Given the description of an element on the screen output the (x, y) to click on. 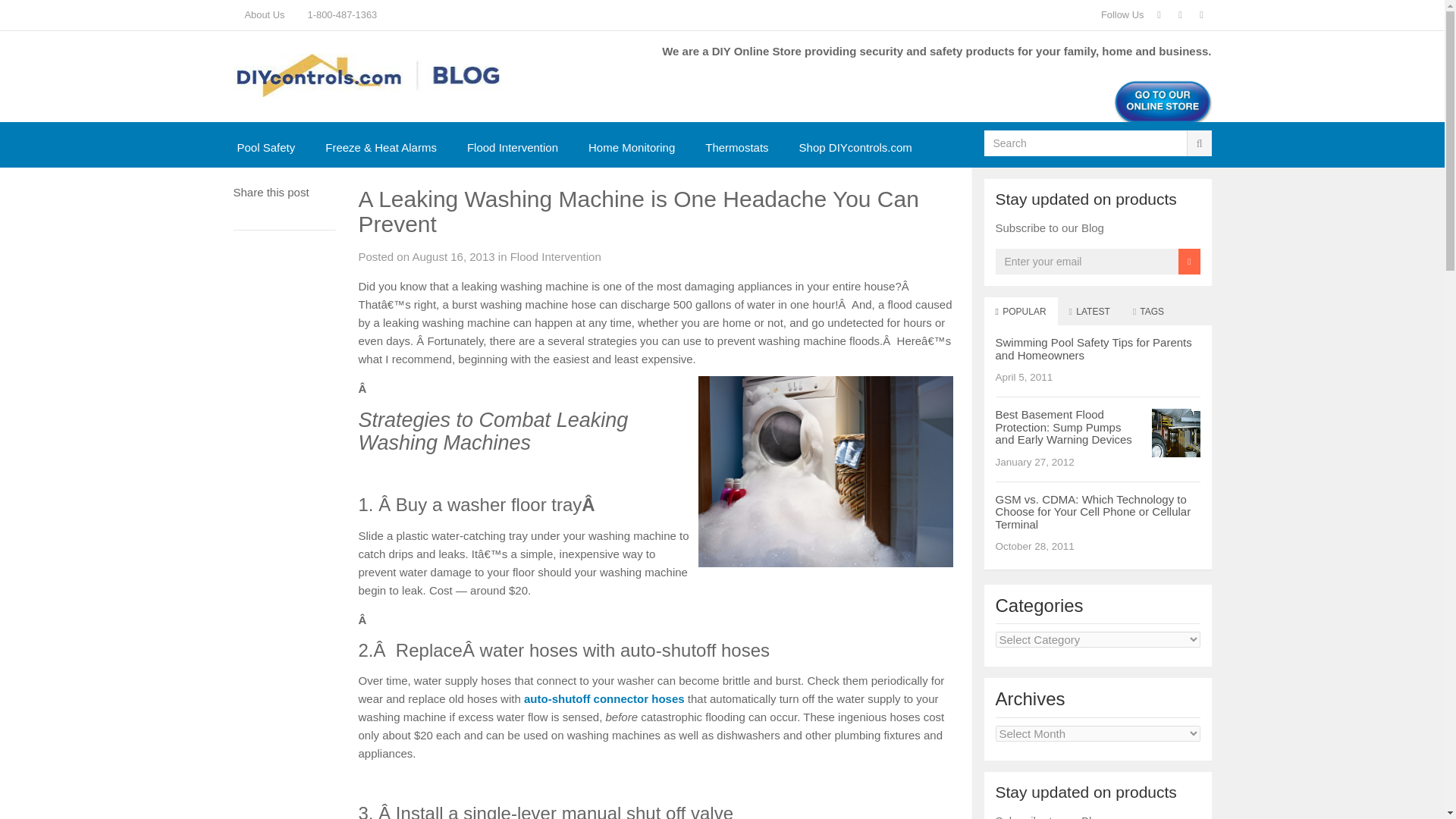
Shop DIYcontrols.com (855, 147)
About Us (264, 15)
Thermostats (736, 147)
Shop Now button (1162, 101)
Flood Intervention (512, 147)
Pool Safety (265, 147)
auto-shutoff connector hoses (604, 698)
A leaking washing machine can be prevented. (825, 471)
1-800-487-1363 (342, 15)
Home Monitoring (631, 147)
